Given the description of an element on the screen output the (x, y) to click on. 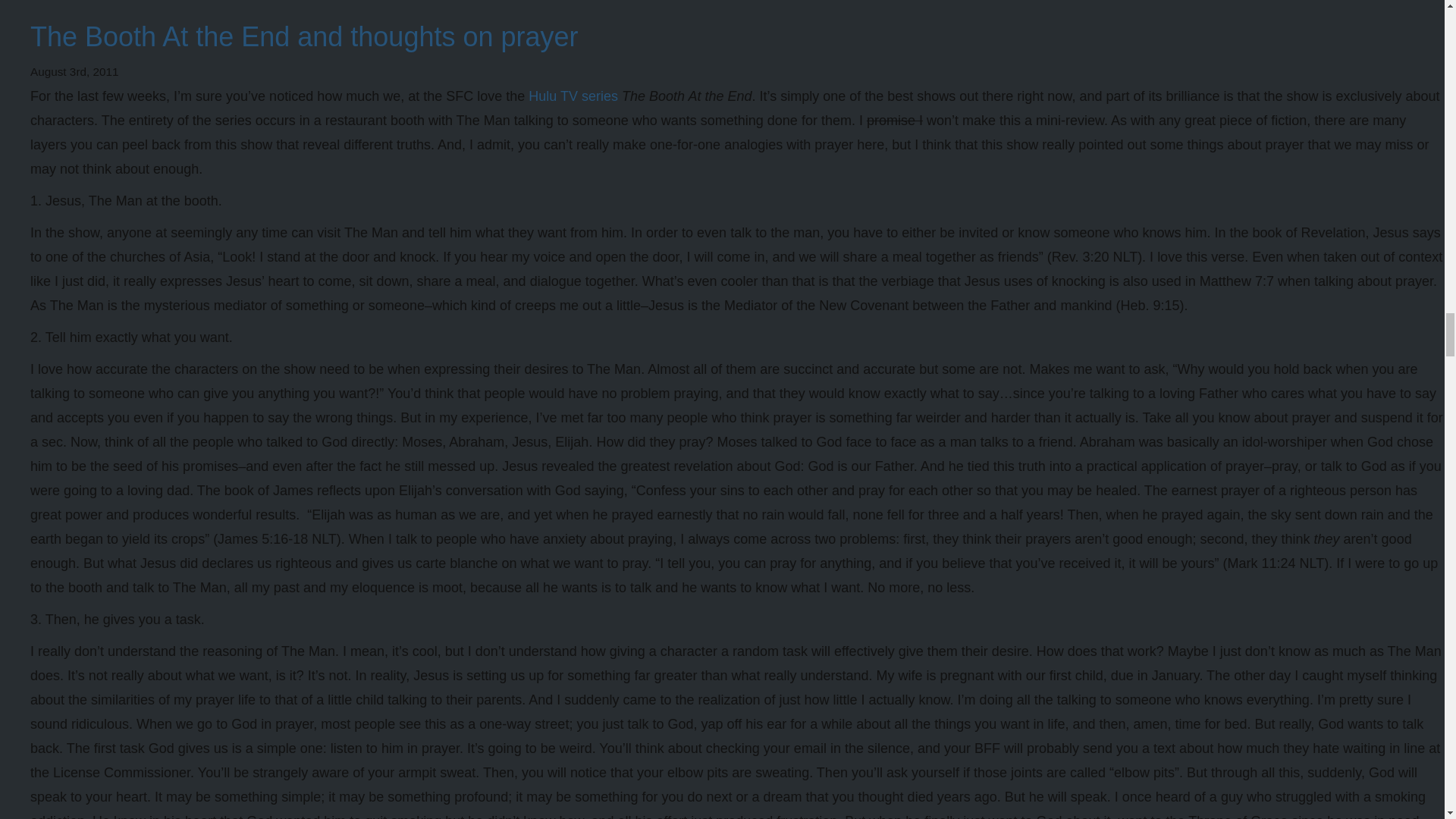
The Booth At the End and thoughts on prayer (304, 36)
Hulu TV series (572, 96)
9 Comments " (73, 1)
